Given the description of an element on the screen output the (x, y) to click on. 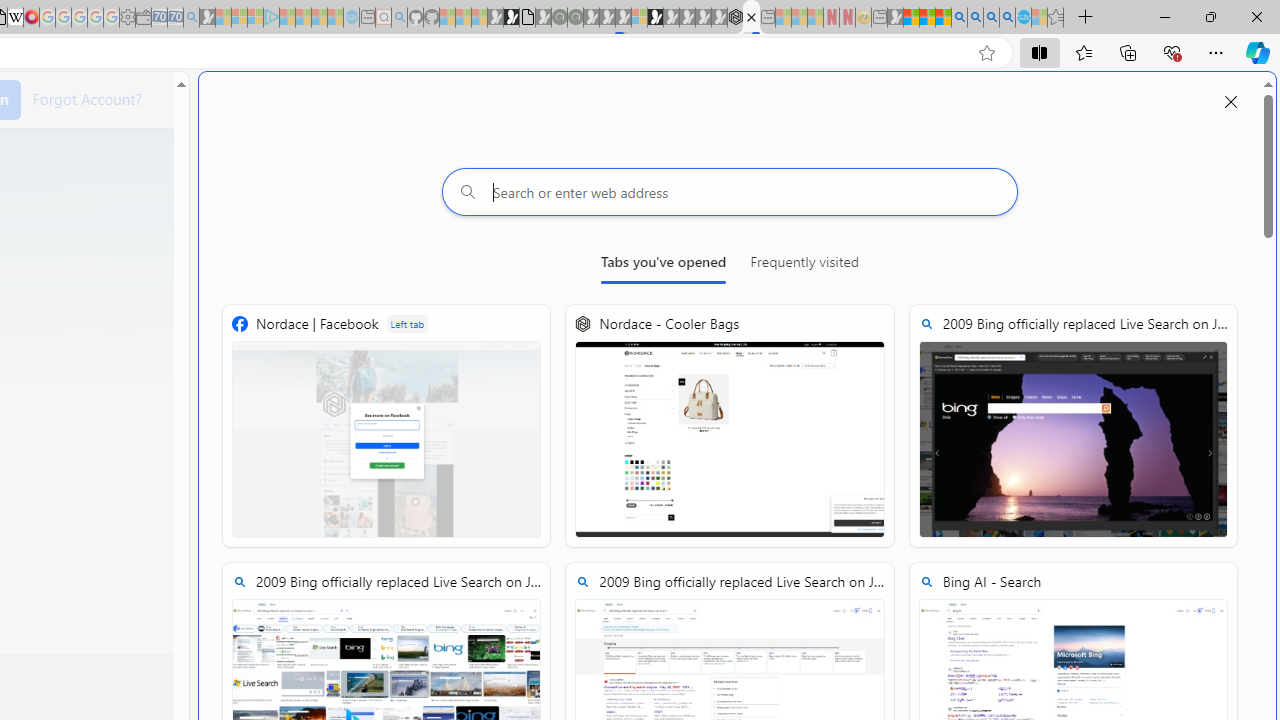
Close split screen (1231, 102)
Forgot Account? (87, 97)
Tabs you've opened (663, 265)
Future Focus Report 2024 - Sleeping (575, 17)
Services - Maintenance | Sky Blue Bikes - Sky Blue Bikes (1023, 17)
New split screen (751, 17)
Home | Sky Blue Bikes - Sky Blue Bikes - Sleeping (351, 17)
